Given the description of an element on the screen output the (x, y) to click on. 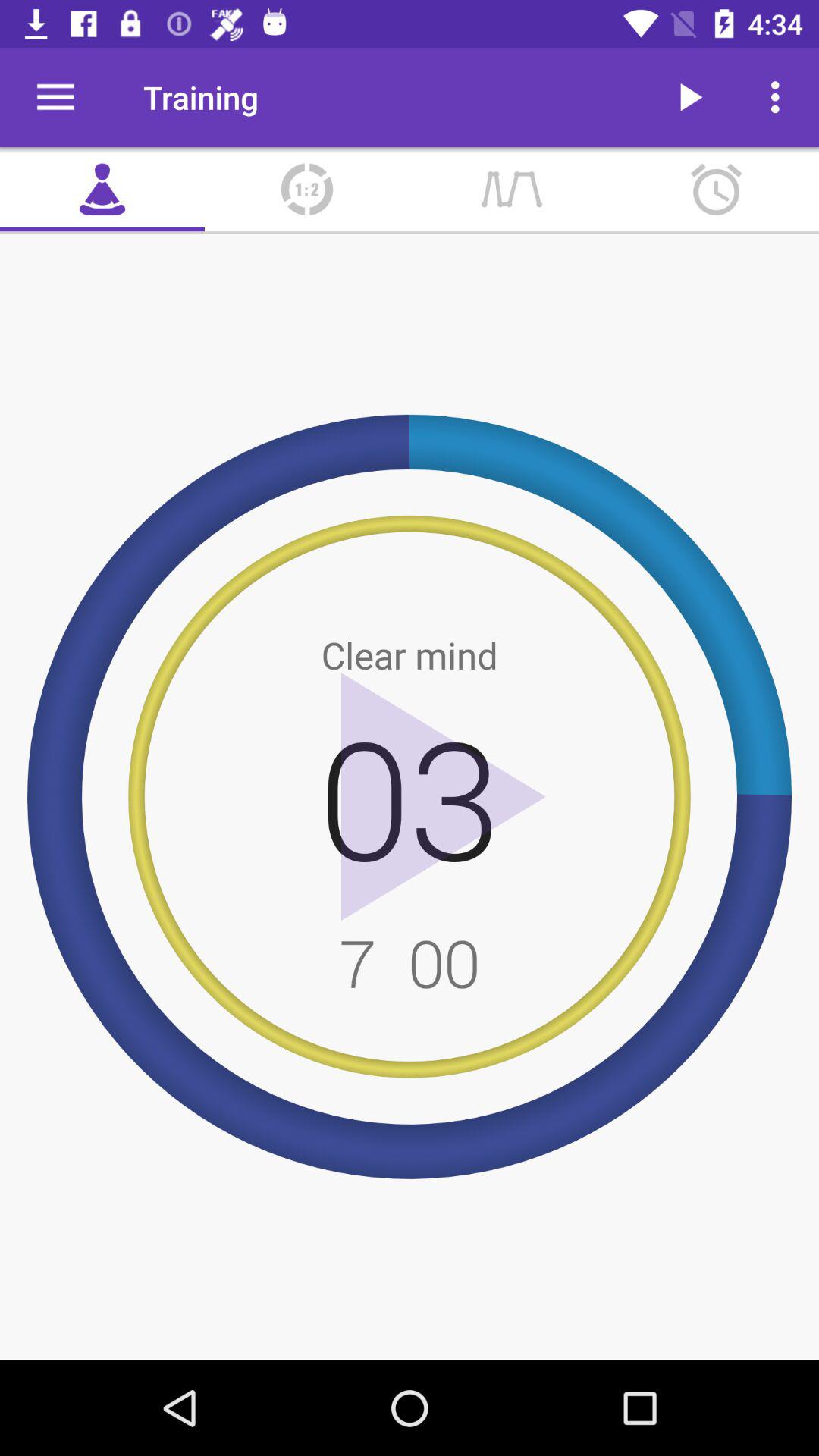
turn on the icon next to the training icon (55, 97)
